Given the description of an element on the screen output the (x, y) to click on. 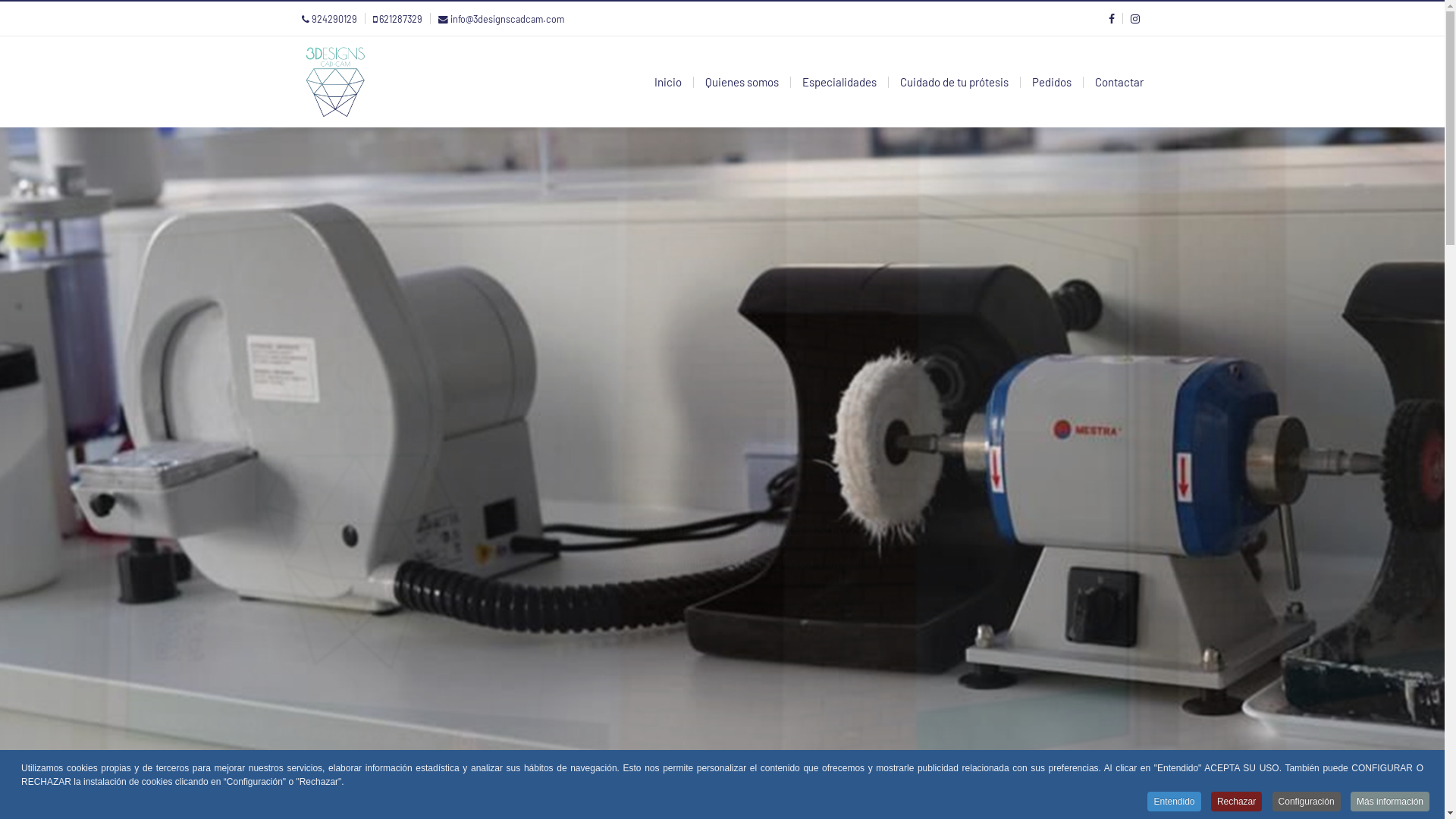
Especialidades Element type: text (838, 81)
Rechazar todas las Cookies Element type: text (727, 545)
621287329 Element type: text (400, 18)
924290129 Element type: text (333, 18)
Quienes somos Element type: text (741, 81)
Inicio Element type: text (668, 81)
Rechazar Element type: text (1236, 801)
Entendido Element type: text (1173, 801)
info@3designscadcam.com Element type: text (507, 18)
Habilitar todas las Cookies Element type: text (570, 545)
Contactar Element type: text (1118, 81)
Pedidos Element type: text (1051, 81)
1 Element type: text (680, 301)
